Given the description of an element on the screen output the (x, y) to click on. 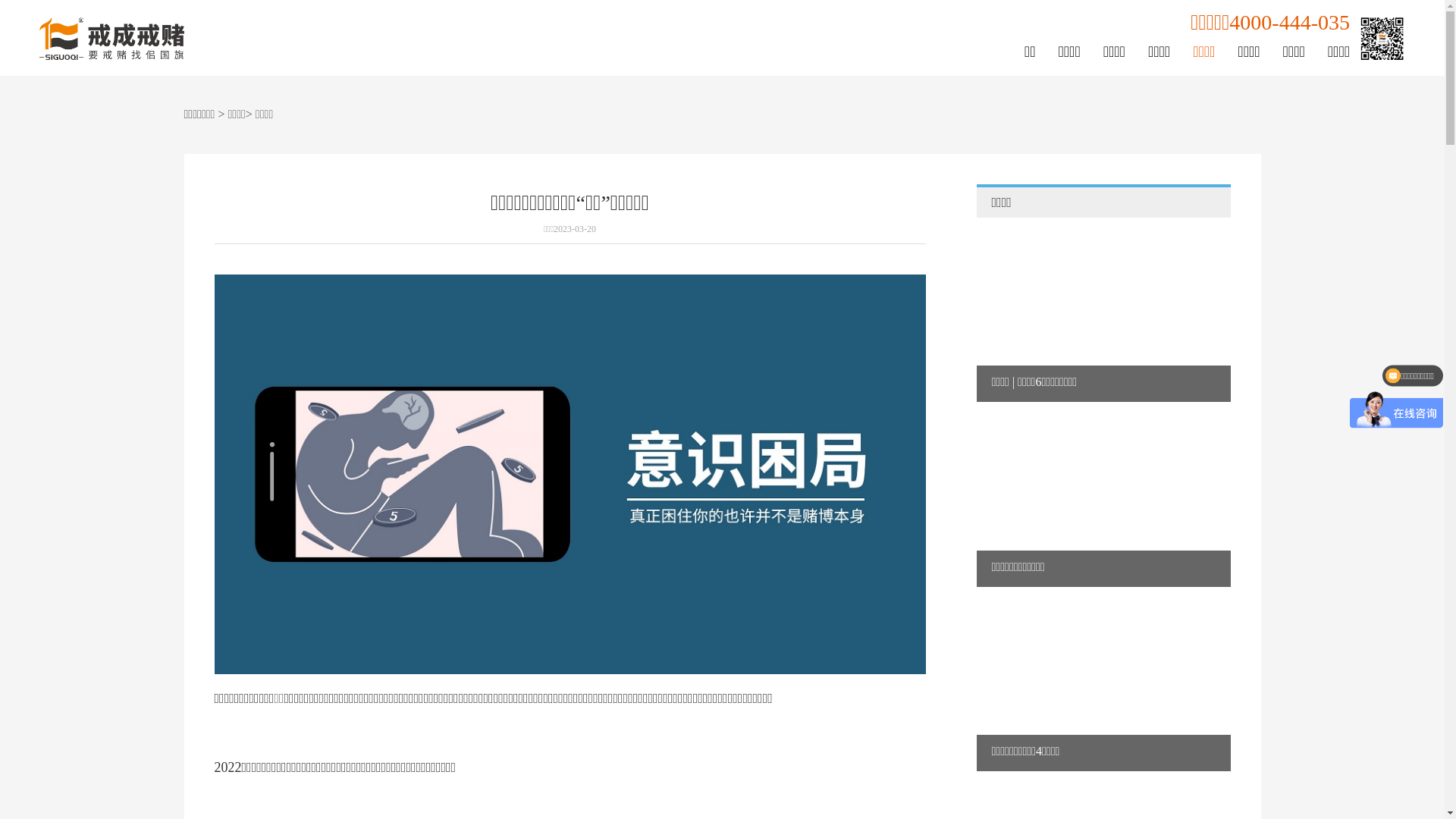
167929501157221796.jpg Element type: hover (569, 474)
